Given the description of an element on the screen output the (x, y) to click on. 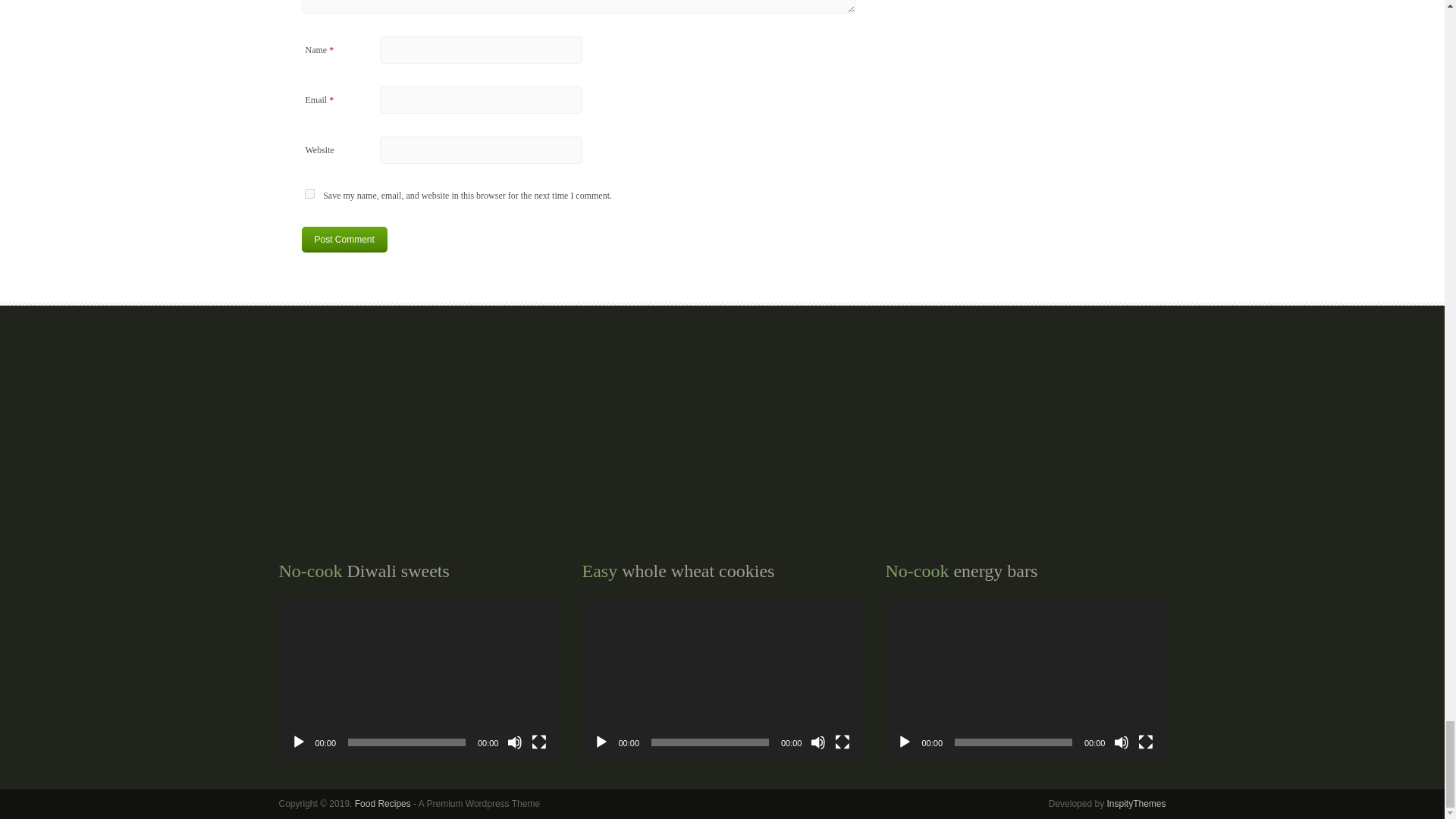
yes (309, 194)
Post Comment (344, 239)
